Given the description of an element on the screen output the (x, y) to click on. 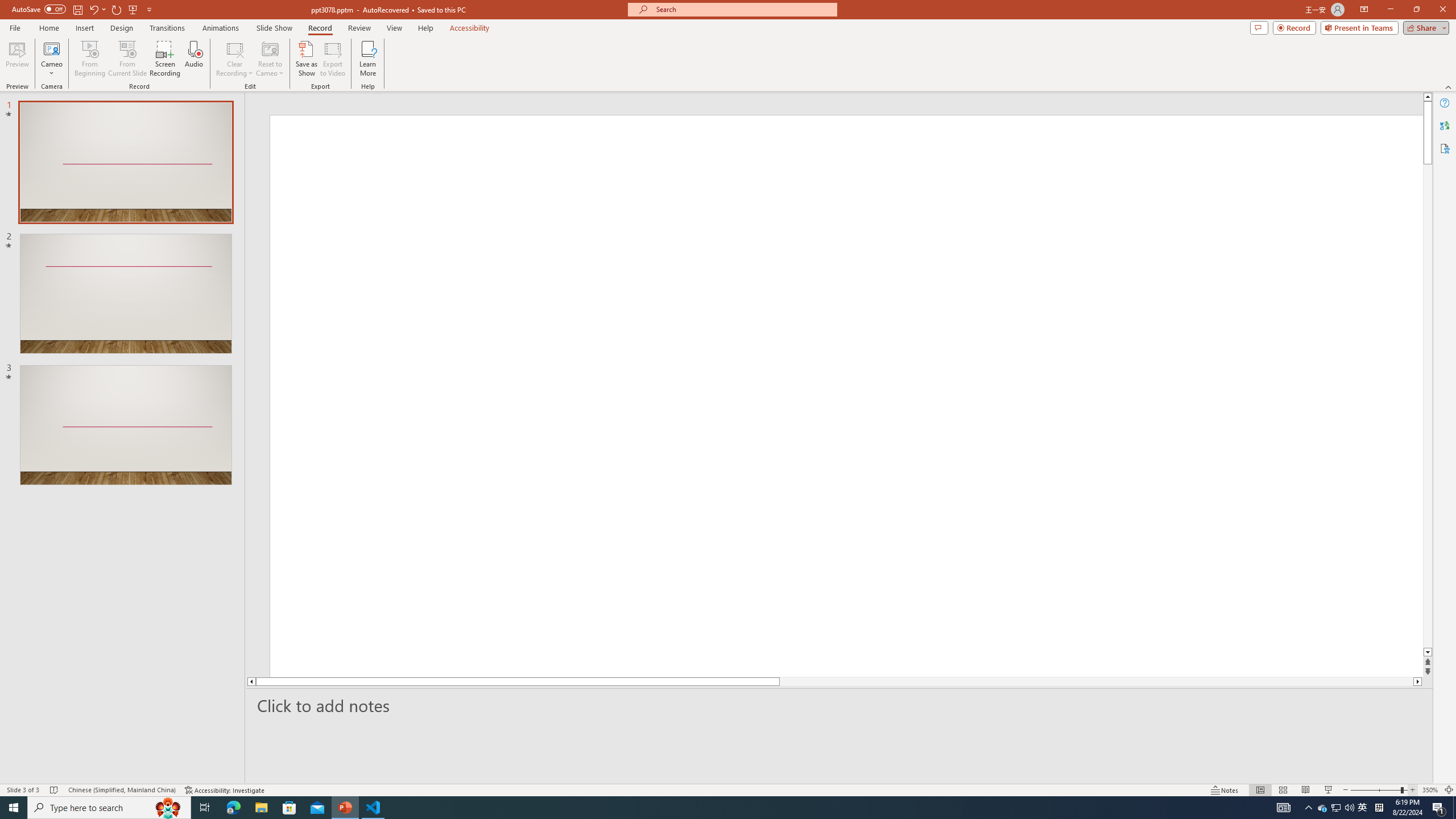
Export to Video (332, 58)
Screen Recording (165, 58)
Learn More (368, 58)
